Given the description of an element on the screen output the (x, y) to click on. 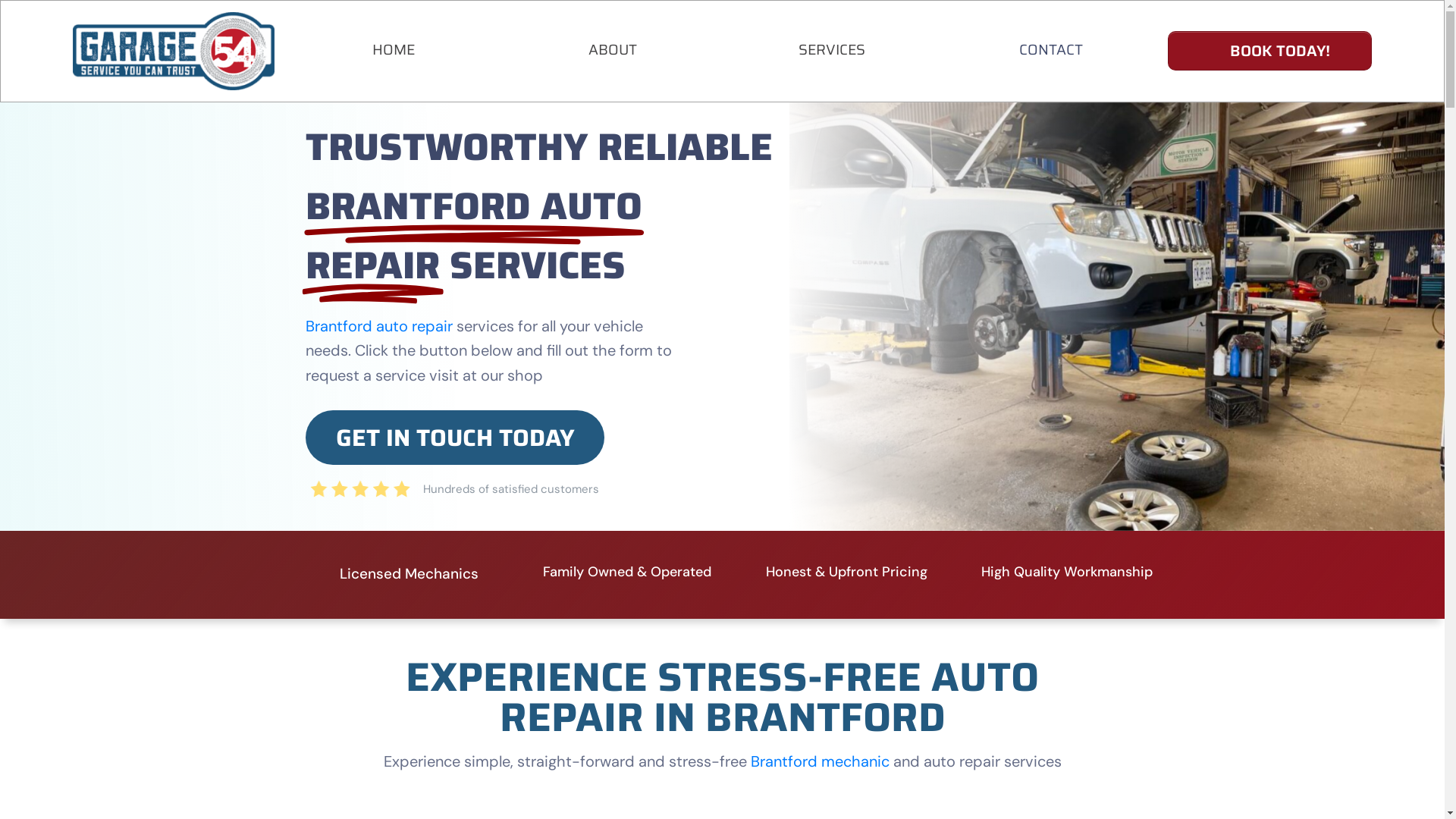
CONTACT Element type: text (1050, 48)
HOME Element type: text (393, 48)
Garage54Logo-500px Element type: hover (173, 51)
BOOK TODAY! Element type: text (1269, 50)
SERVICES Element type: text (831, 48)
ABOUT Element type: text (612, 48)
GET IN TOUCH TODAY Element type: text (454, 437)
Brantford auto repair Element type: text (378, 325)
Brantford mechanic Element type: text (819, 761)
